Given the description of an element on the screen output the (x, y) to click on. 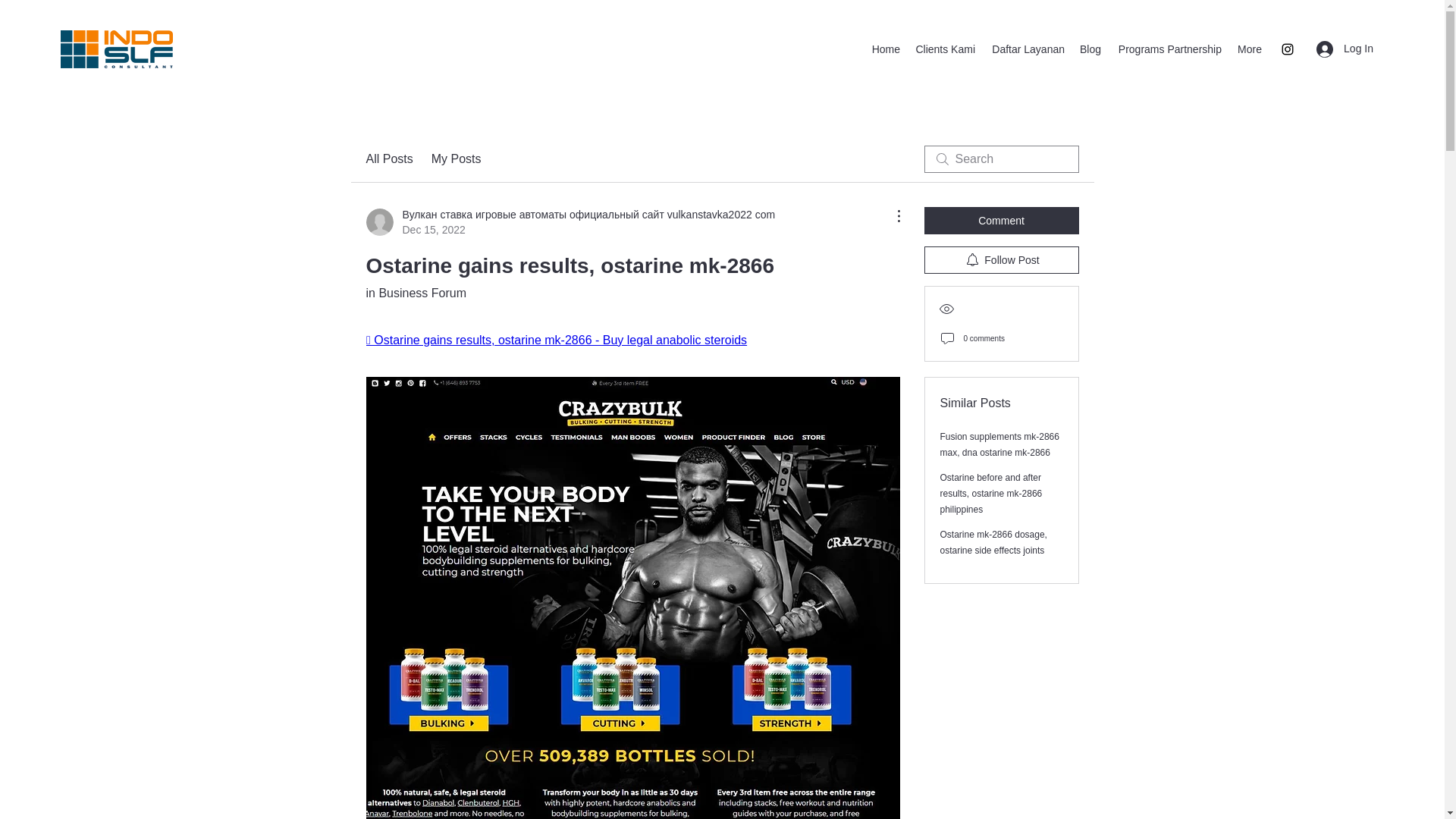
Programs Partnership (1168, 48)
Log In (1345, 49)
Comment (1000, 220)
Fusion supplements mk-2866 max, dna ostarine mk-2866 (999, 444)
Clients Kami (944, 48)
My Posts (455, 158)
in Business Forum (415, 292)
Daftar Layanan (1026, 48)
Follow Post (1000, 259)
Home (885, 48)
Blog (1089, 48)
Ostarine mk-2866 dosage, ostarine side effects joints (993, 542)
All Posts (388, 158)
